Given the description of an element on the screen output the (x, y) to click on. 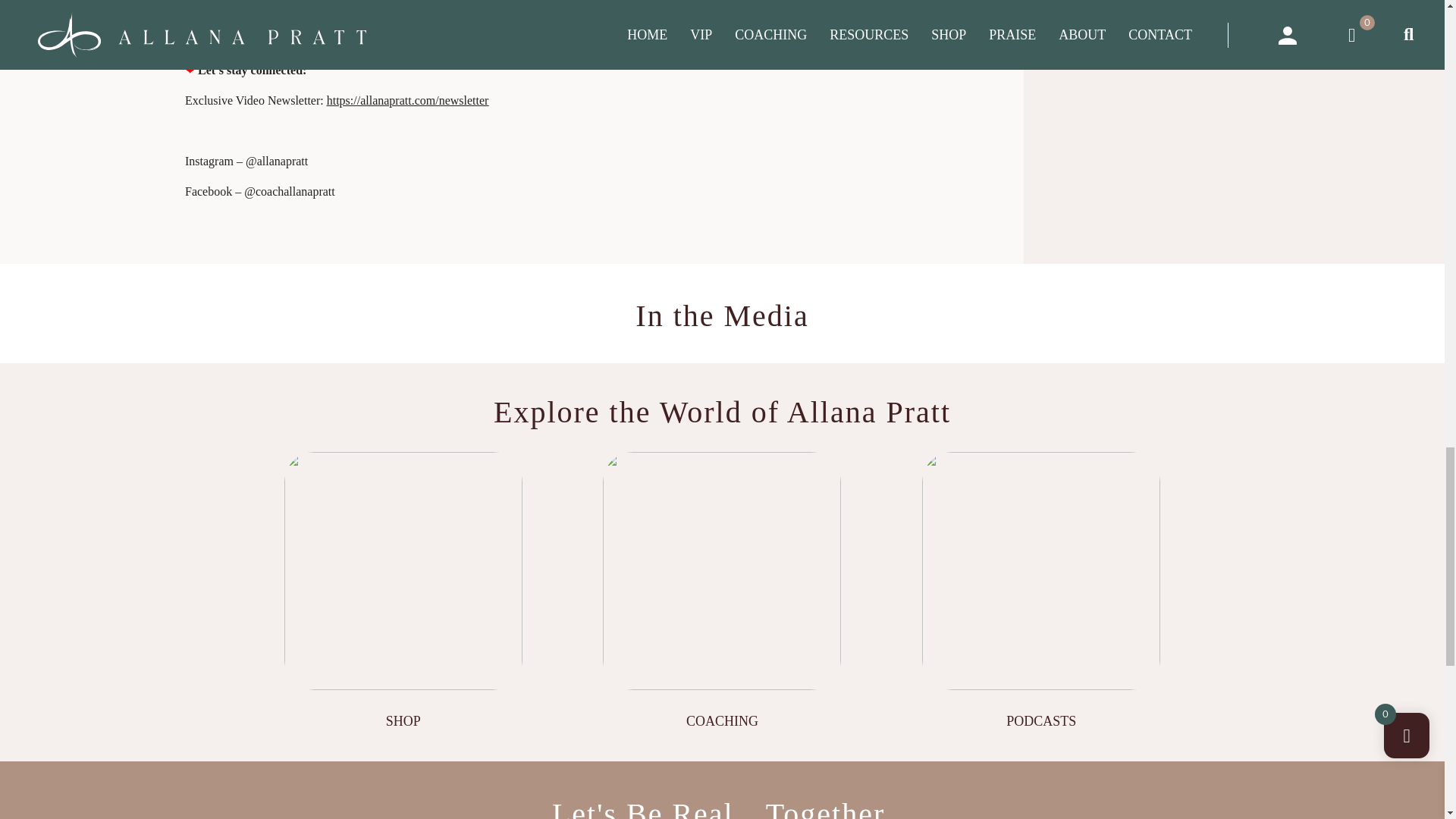
Subscribe (208, 39)
COACHING (721, 571)
PODCASTS (1040, 571)
Shop (402, 571)
